Given the description of an element on the screen output the (x, y) to click on. 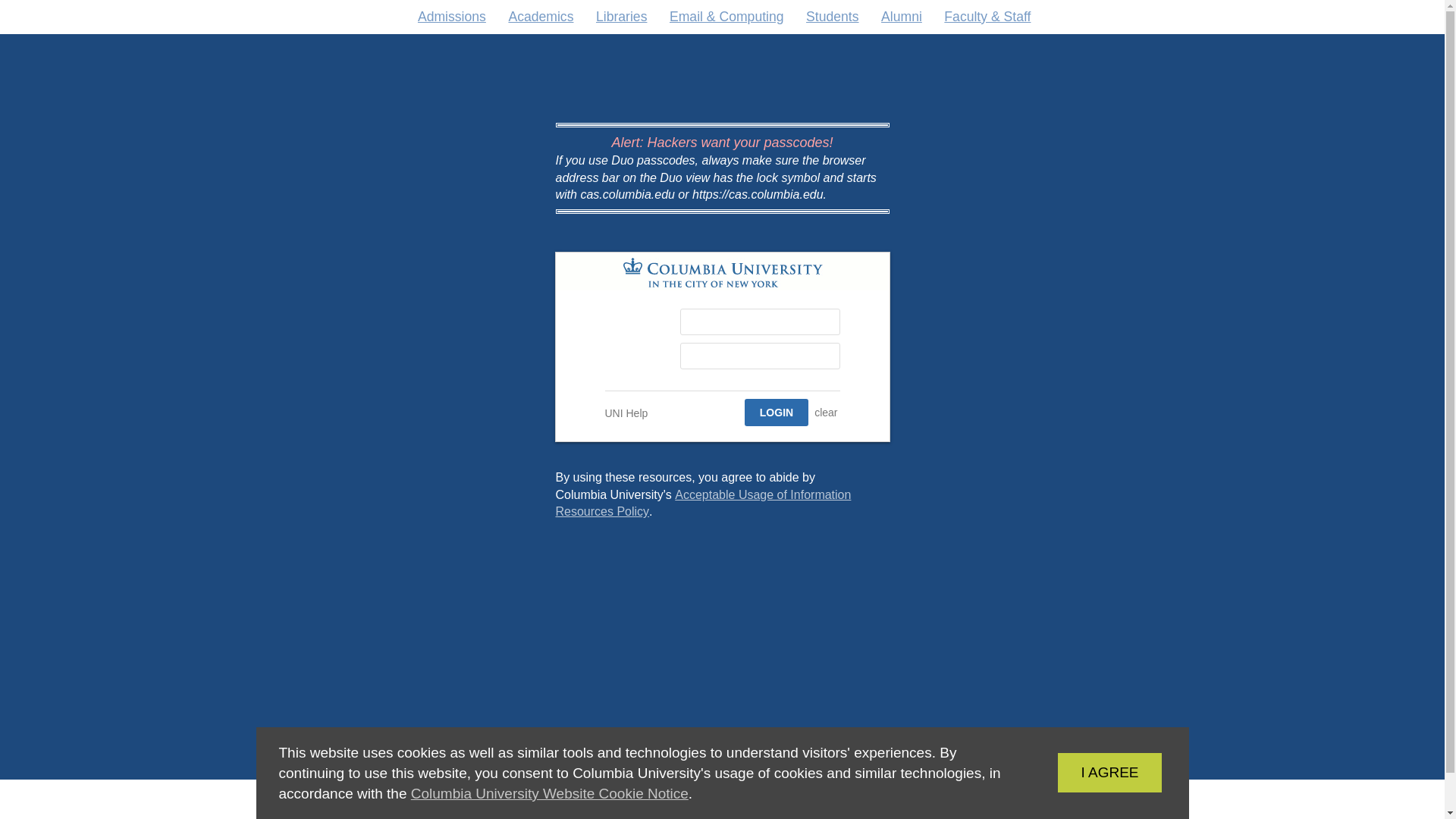
LOGIN (776, 411)
Columbia University Website Cookie Notice (549, 793)
UNI Help (1086, 772)
Libraries (626, 413)
LOGIN (620, 16)
Academics (776, 411)
Alumni (540, 16)
Acceptable Usage of Information Resources Policy (900, 16)
Admissions (702, 502)
